Given the description of an element on the screen output the (x, y) to click on. 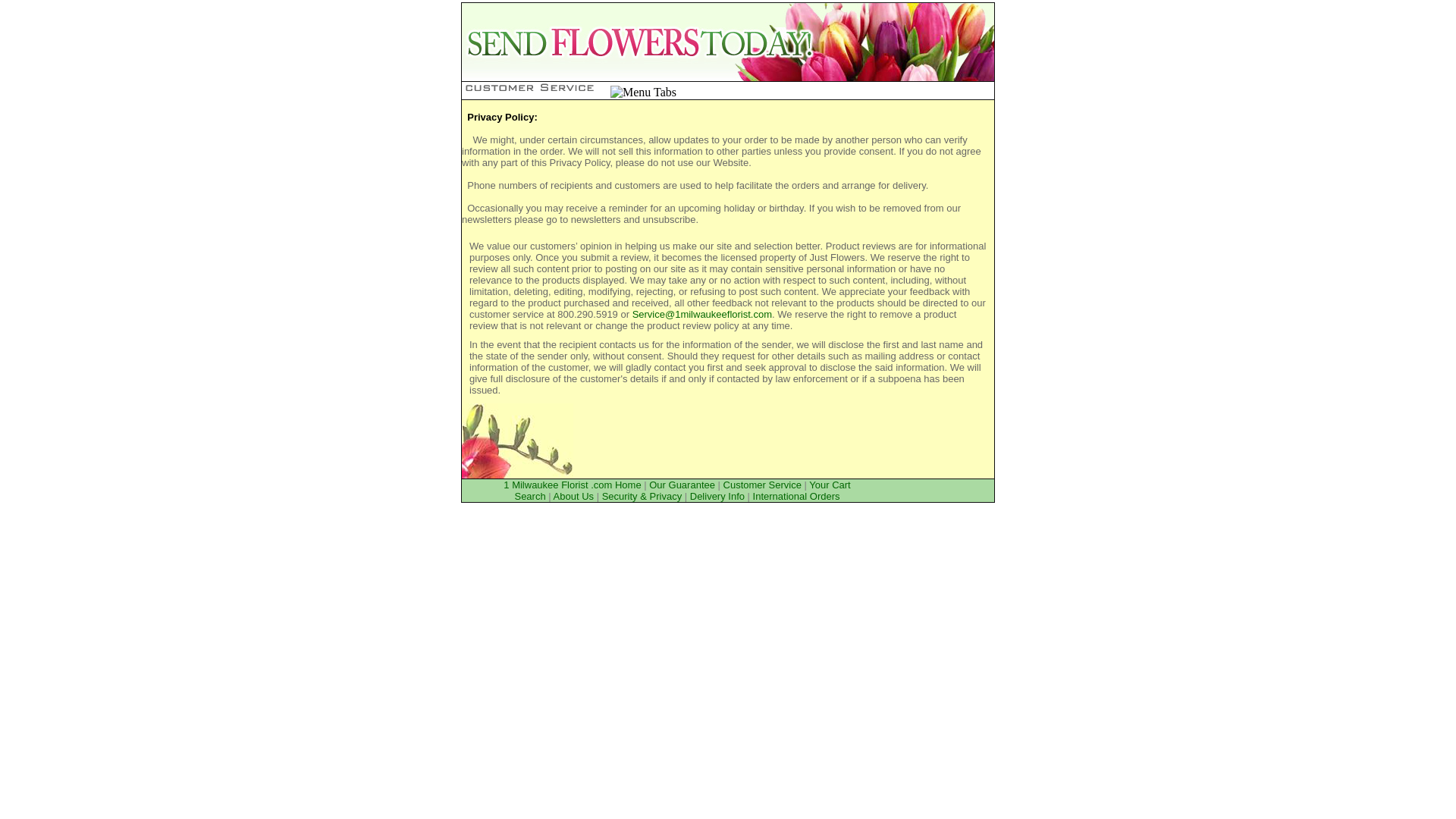
Service@1milwaukeeflorist.com Element type: text (701, 314)
Search Element type: text (529, 496)
Security & Privacy Element type: text (641, 496)
1 Milwaukee Florist .com Home Element type: text (571, 484)
Customer Service Element type: text (762, 484)
Our Guarantee Element type: text (682, 484)
Delivery Info Element type: text (717, 496)
International Orders Element type: text (796, 496)
About Us Element type: text (573, 496)
Your Cart Element type: text (829, 484)
